Given the description of an element on the screen output the (x, y) to click on. 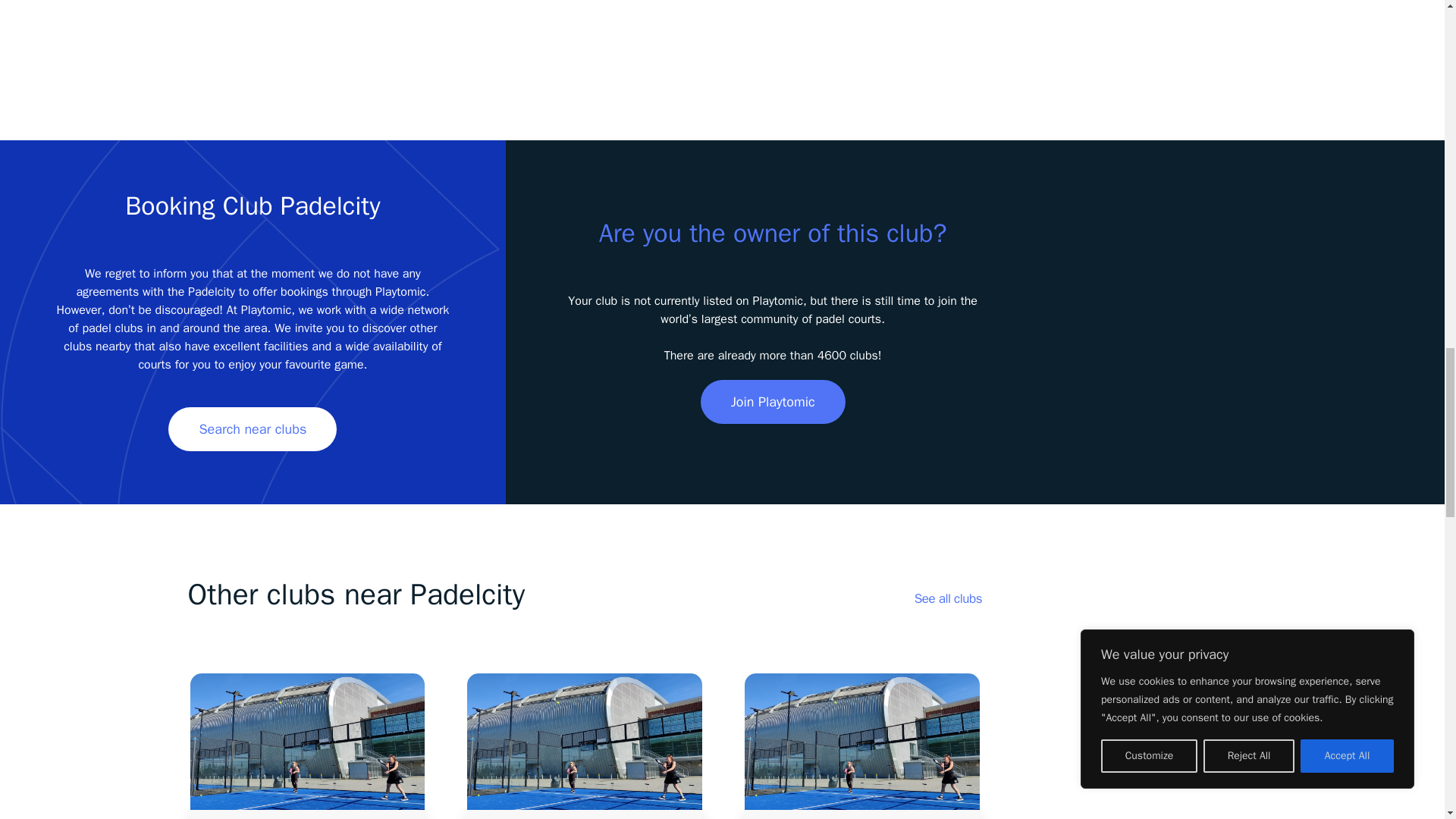
See all clubs (947, 598)
Search near clubs (252, 429)
Join Playtomic (772, 402)
